Given the description of an element on the screen output the (x, y) to click on. 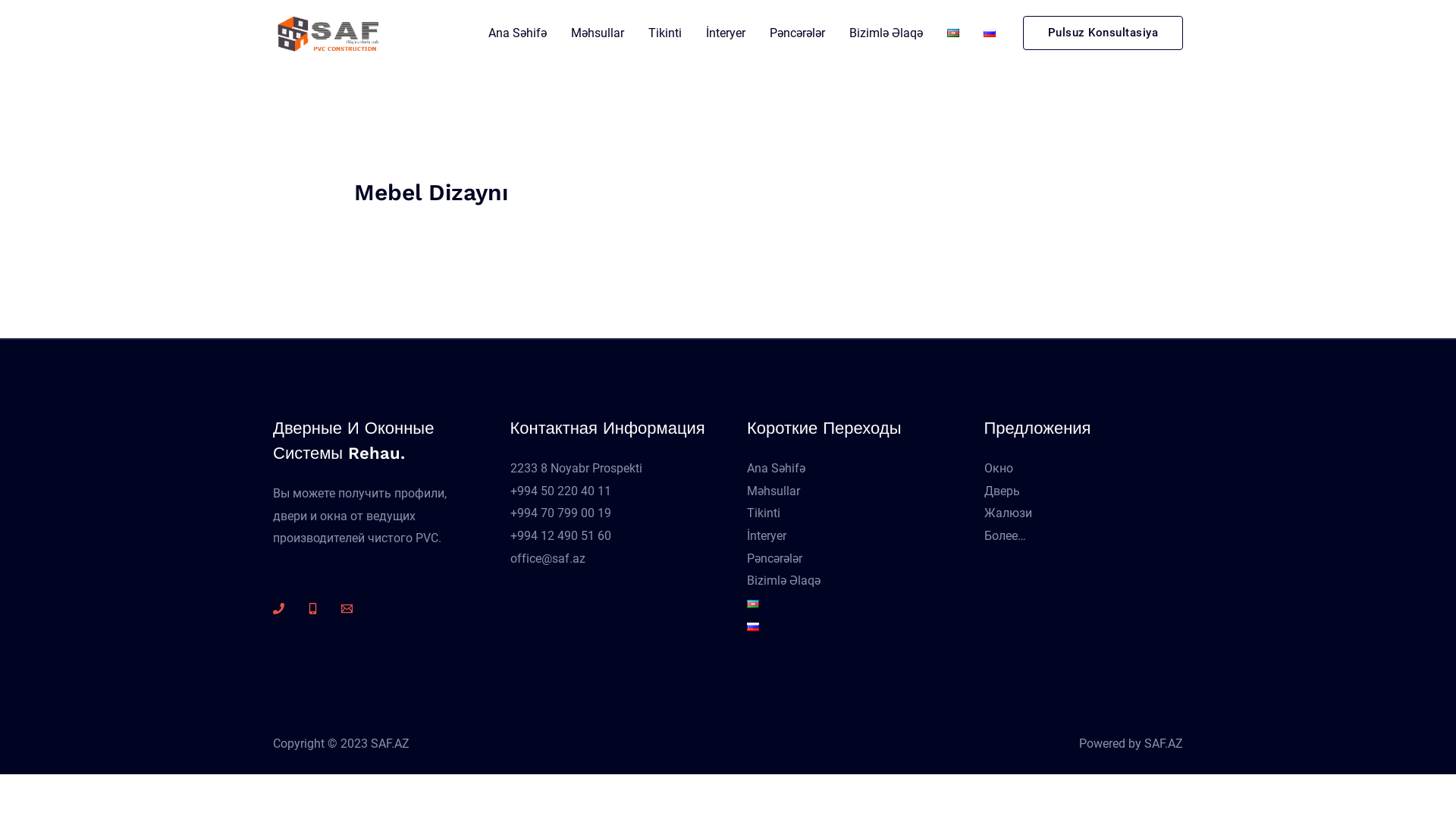
Tikinti Element type: text (664, 32)
Pulsuz Konsultasiya Element type: text (1102, 32)
office@saf.az Element type: text (546, 558)
2233 8 Noyabr Prospekti Element type: text (575, 468)
+994 50 220 40 11
+994 70 799 00 19
+994 12 490 51 60 Element type: text (559, 512)
Tikinti Element type: text (763, 512)
